Given the description of an element on the screen output the (x, y) to click on. 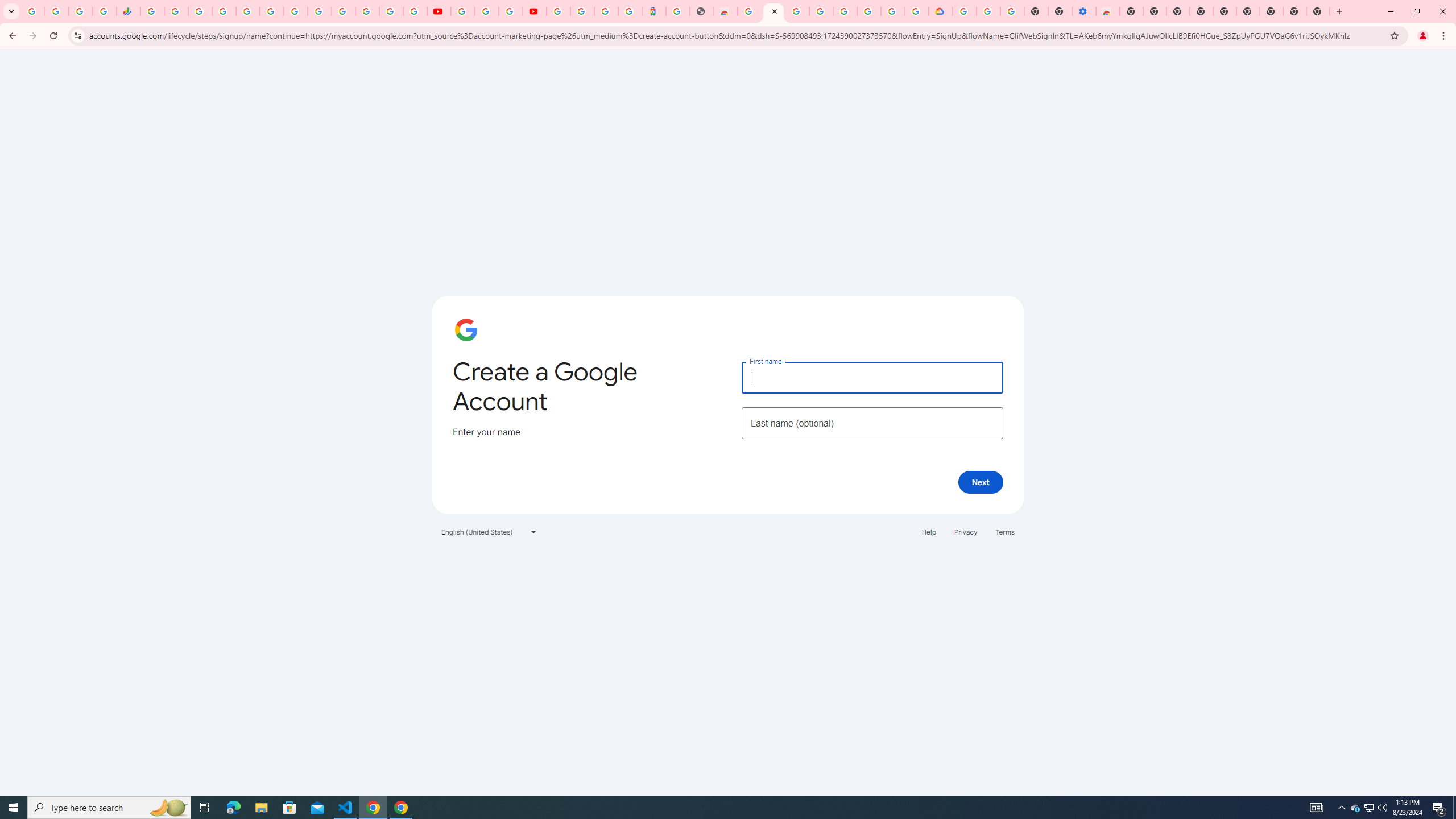
First name (871, 376)
YouTube (438, 11)
New Tab (1131, 11)
Settings - Accessibility (1083, 11)
English (United States) (489, 531)
Google Account Help (486, 11)
New Tab (1318, 11)
